Given the description of an element on the screen output the (x, y) to click on. 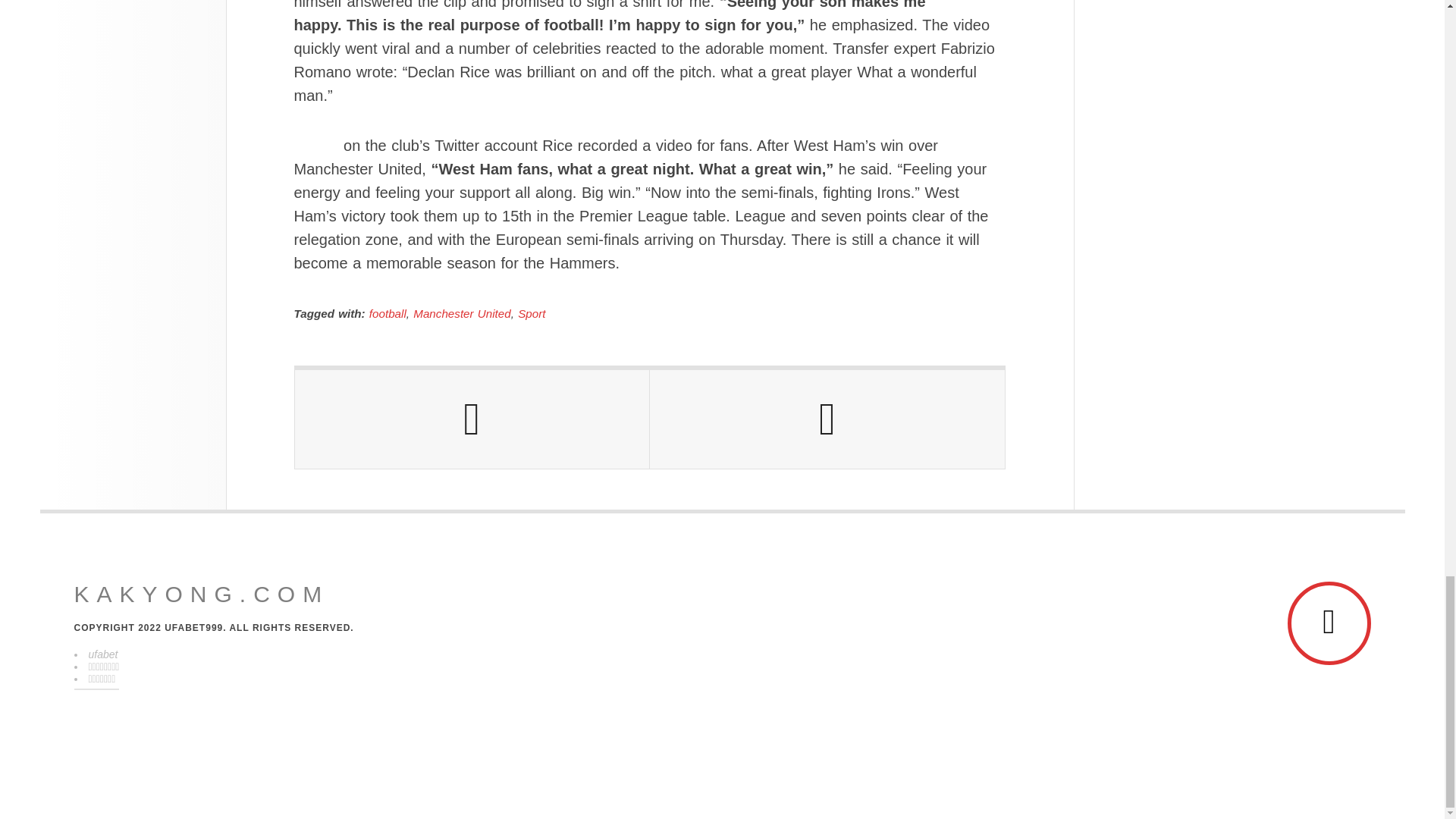
kakyong.com (202, 594)
football (387, 313)
Manchester United (462, 313)
KAKYONG.COM (202, 594)
Previous Post (471, 419)
Sport (531, 313)
Next Post (826, 419)
